Given the description of an element on the screen output the (x, y) to click on. 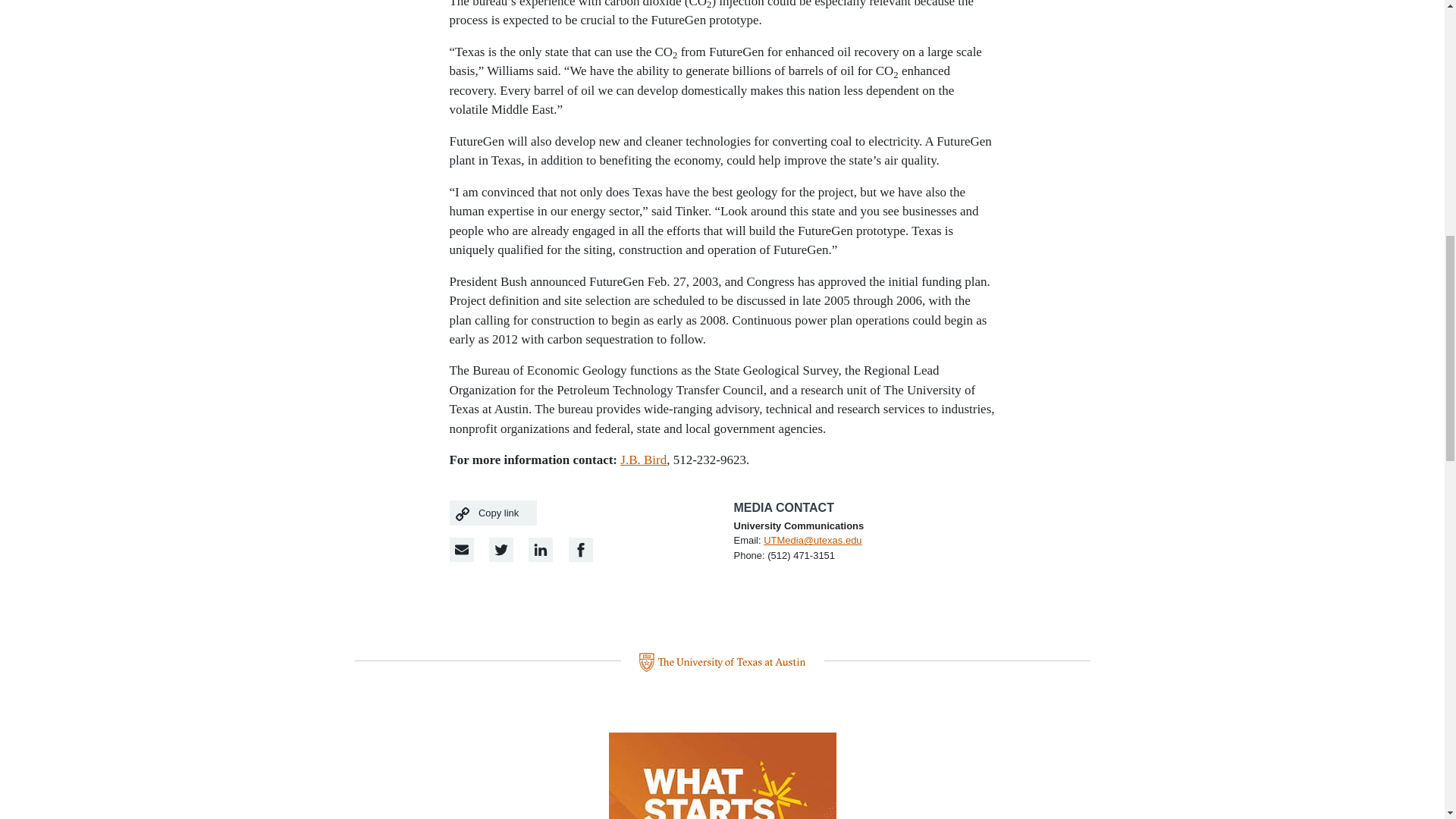
Copy link (492, 512)
Email Share Link (460, 549)
J.B. Bird (643, 459)
